Given the description of an element on the screen output the (x, y) to click on. 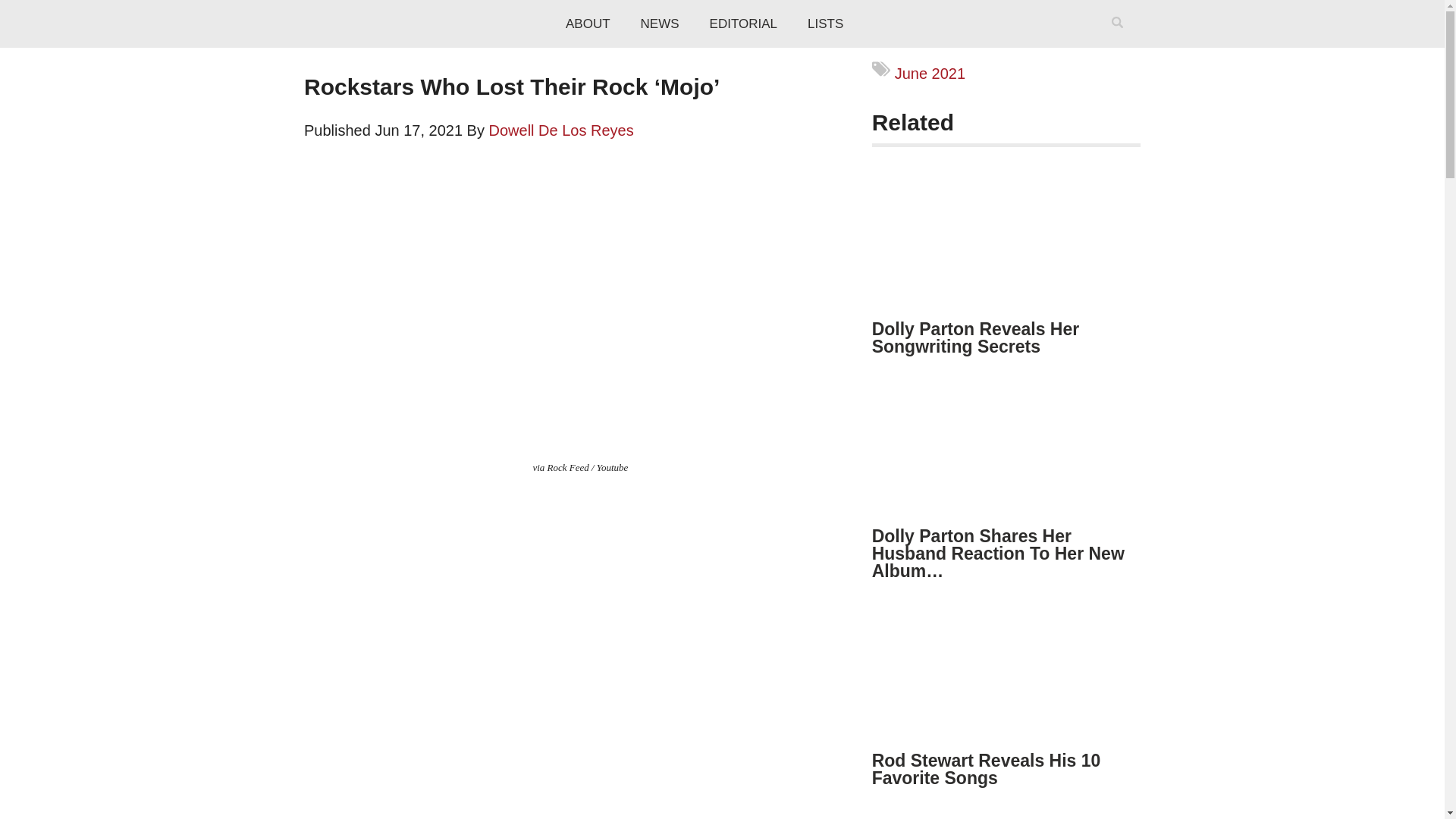
EDITORIAL (743, 23)
LISTS (825, 23)
Search (1120, 42)
Search (1120, 42)
Dowell De Los Reyes (561, 130)
NEWS (660, 23)
Rod Stewart Reveals His 10 Favorite Songs (986, 769)
Search (1120, 42)
Dolly Parton Reveals Her Songwriting Secrets (976, 337)
June 2021 (930, 73)
ABOUT (588, 23)
